Given the description of an element on the screen output the (x, y) to click on. 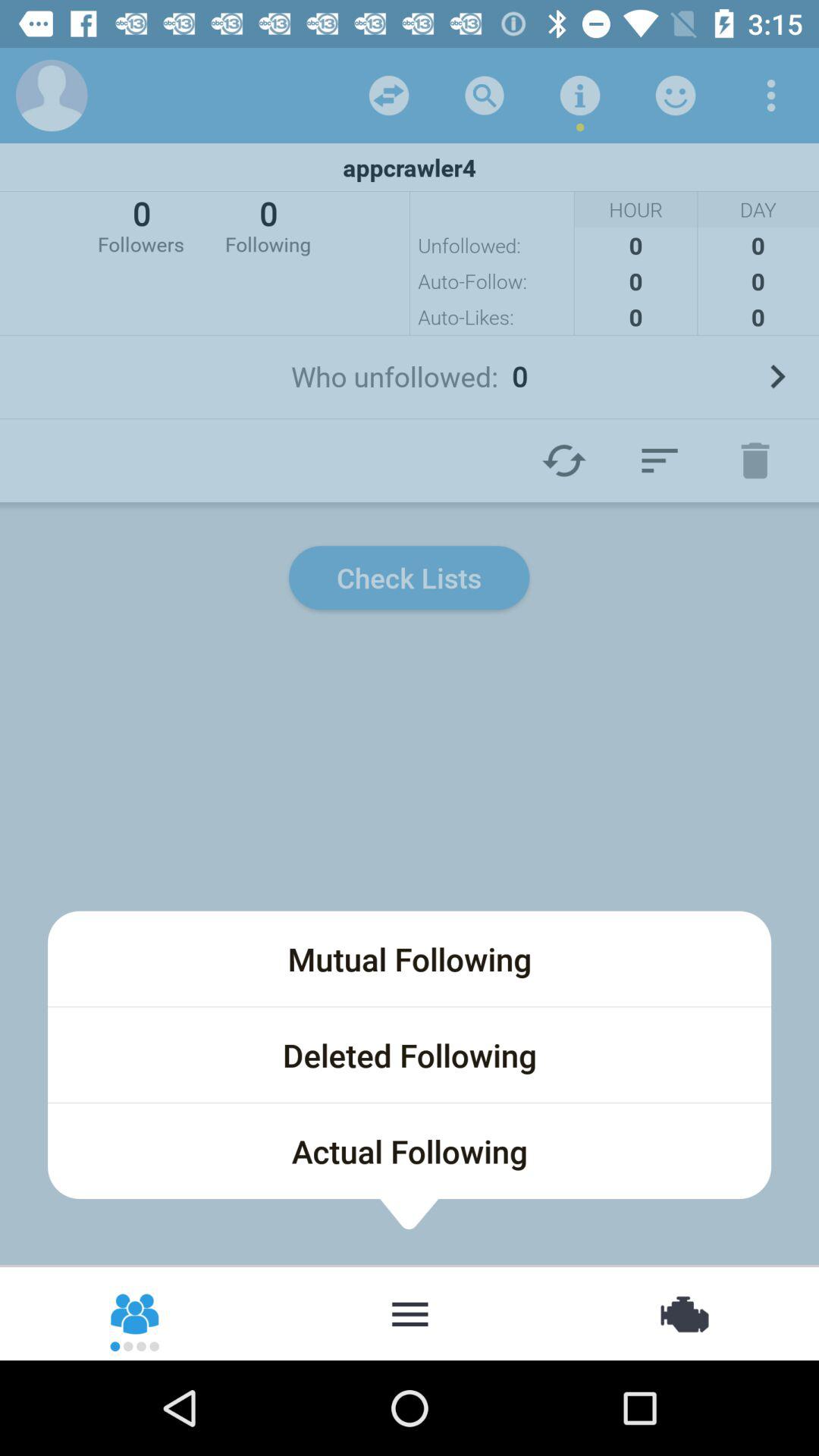
press the item next to the who unfollowed:  0 icon (777, 376)
